Given the description of an element on the screen output the (x, y) to click on. 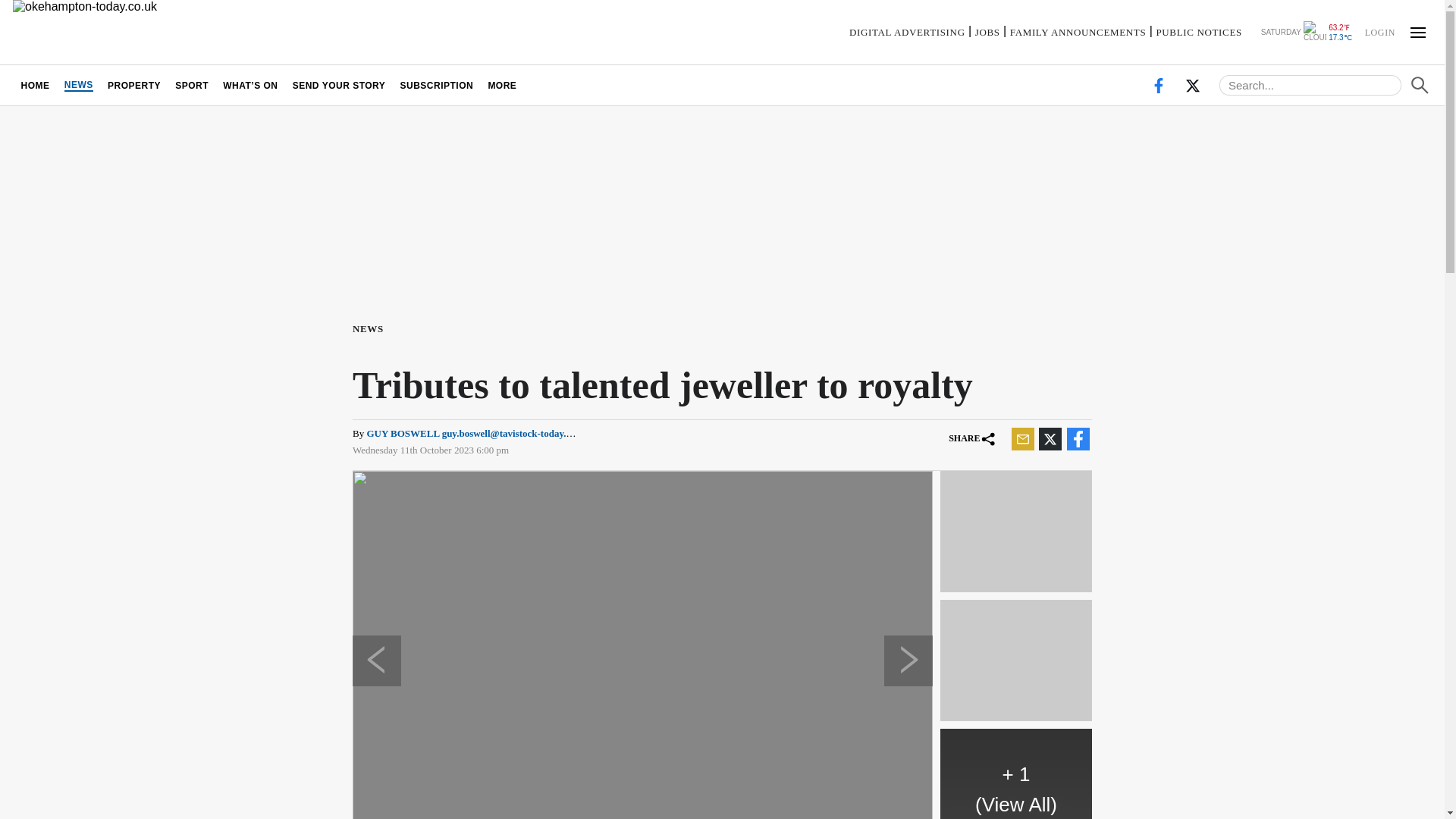
HOME (34, 85)
NEWS (371, 328)
PROPERTY (133, 85)
SPORT (191, 85)
SUBSCRIPTION (436, 85)
PUBLIC NOTICES (1198, 32)
LOGIN (1379, 31)
NEWS (78, 85)
SEND YOUR STORY (339, 85)
MORE (502, 85)
